Given the description of an element on the screen output the (x, y) to click on. 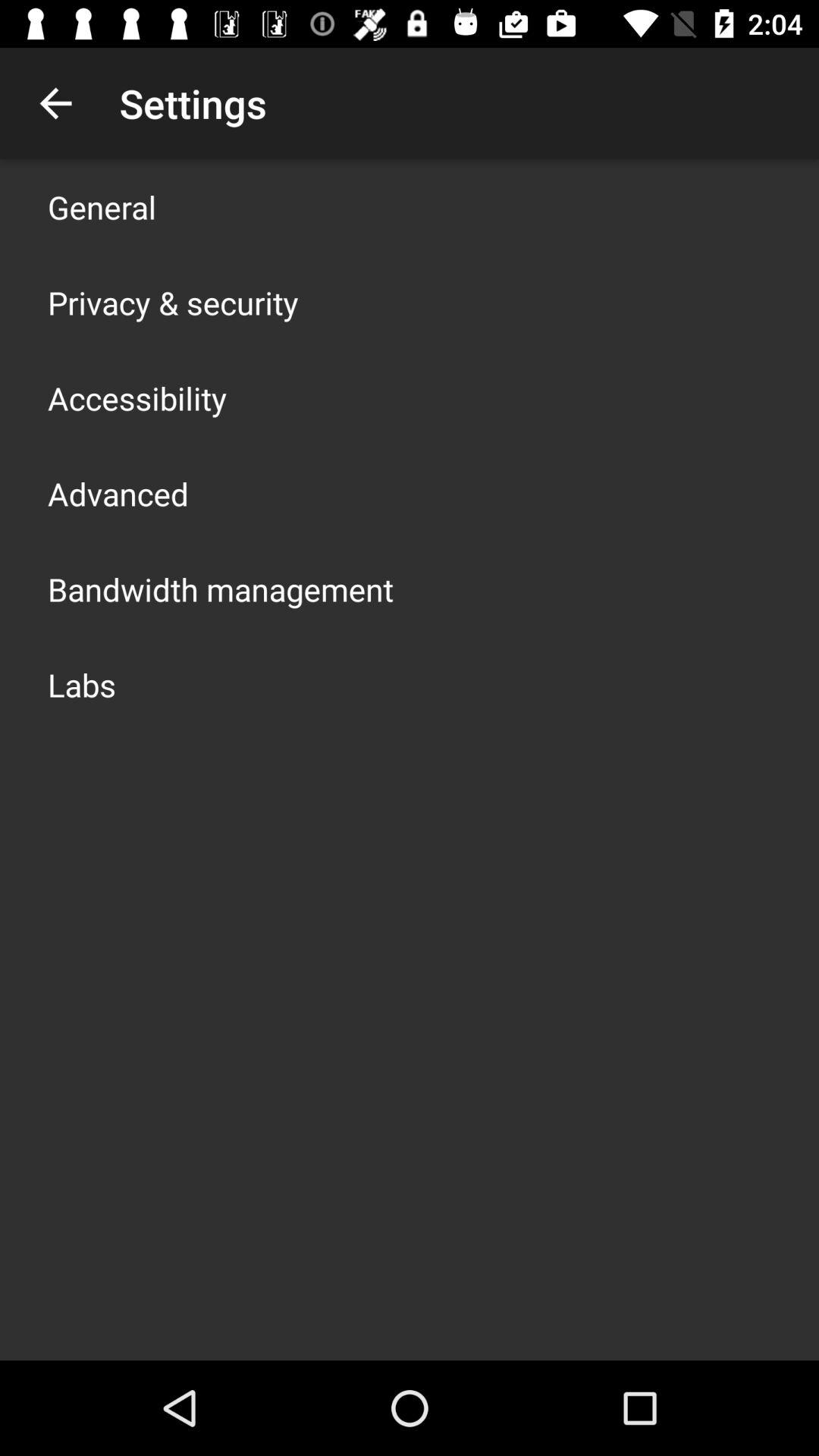
turn off privacy & security (172, 302)
